Given the description of an element on the screen output the (x, y) to click on. 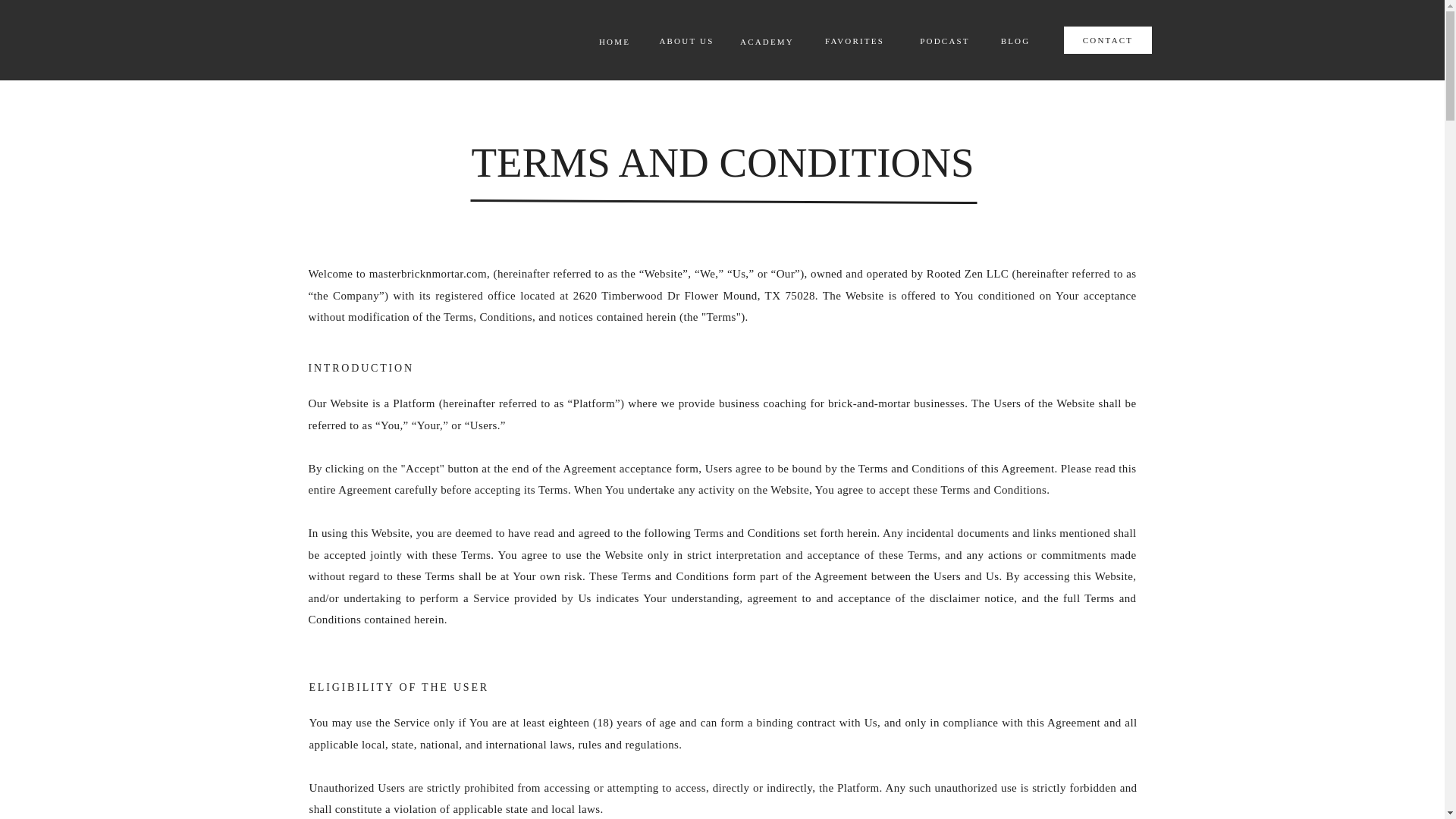
PODCAST (943, 41)
FAVORITES (854, 41)
ABOUT US (686, 41)
TERMS AND CONDITIONS (722, 169)
INTRODUCTION (505, 370)
HOME (613, 42)
ELIGIBILITY OF THE USER (507, 689)
CONTACT (1108, 42)
ACADEMY (767, 42)
BLOG (1014, 41)
